Given the description of an element on the screen output the (x, y) to click on. 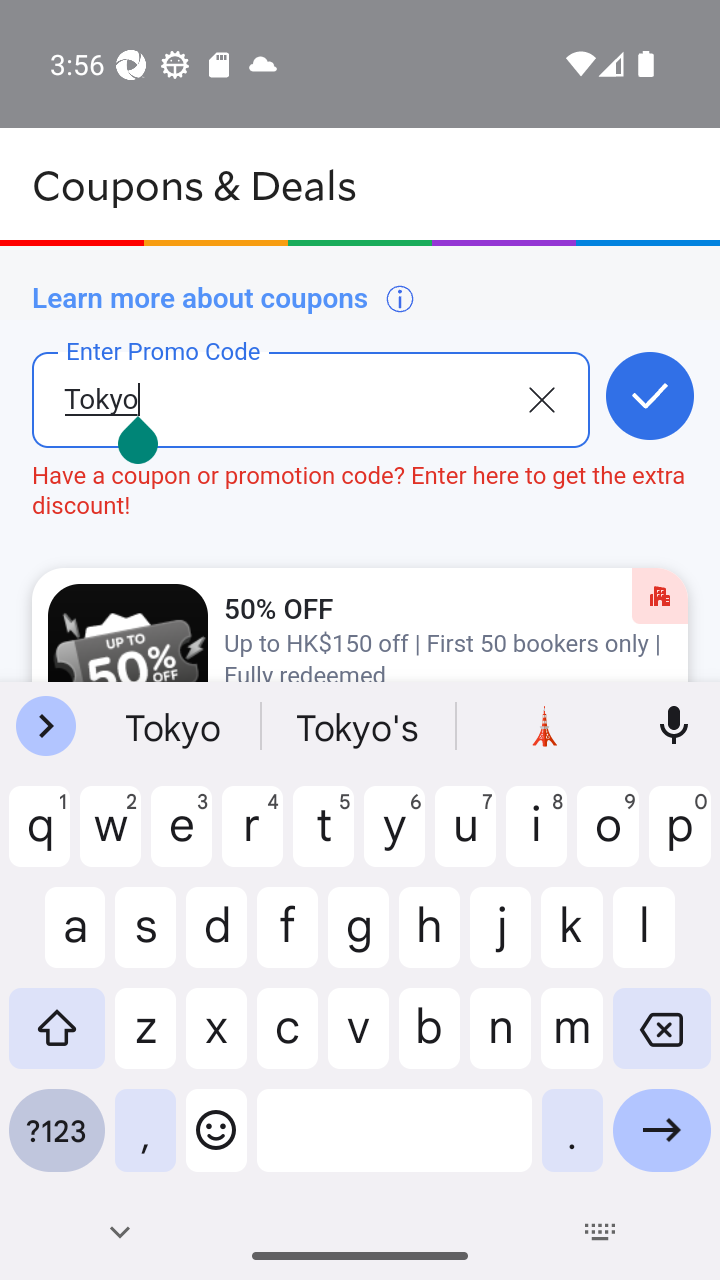
Learn more about coupons (224, 298)
Tokyo (278, 415)
Clear (541, 398)
